Given the description of an element on the screen output the (x, y) to click on. 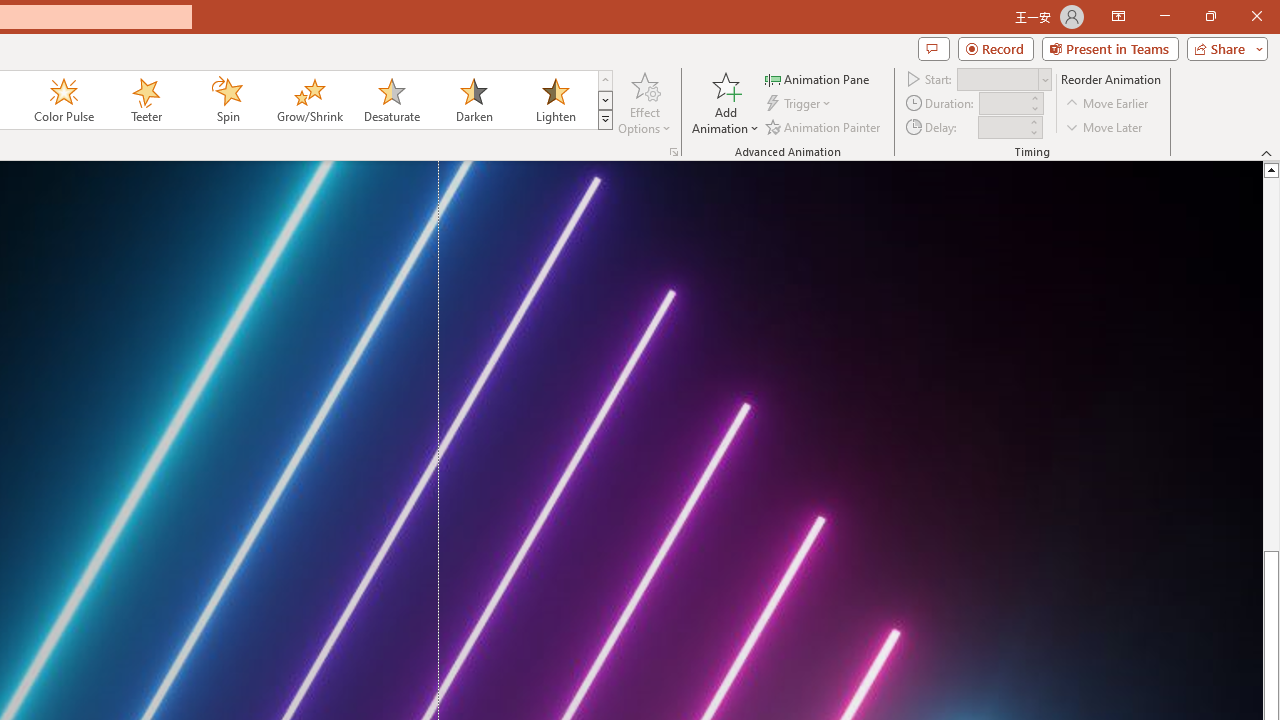
Animation Styles (605, 120)
Grow/Shrink (309, 100)
More Options... (673, 151)
Animation Painter (824, 126)
Animation Pane (818, 78)
Darken (473, 100)
Trigger (799, 103)
Move Earlier (1107, 103)
Color Pulse (63, 100)
